Given the description of an element on the screen output the (x, y) to click on. 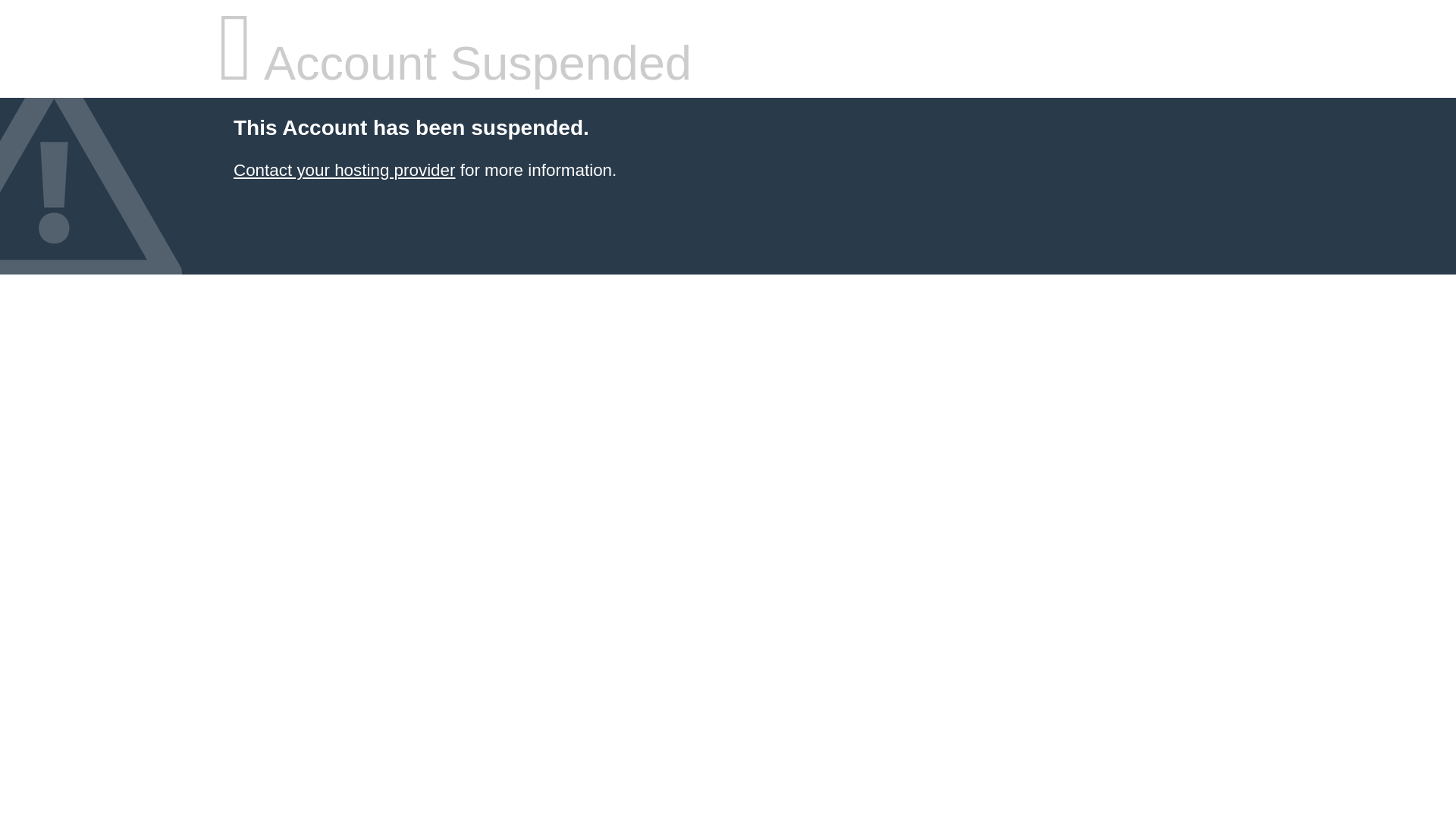
Contact your hosting provider (343, 169)
